Given the description of an element on the screen output the (x, y) to click on. 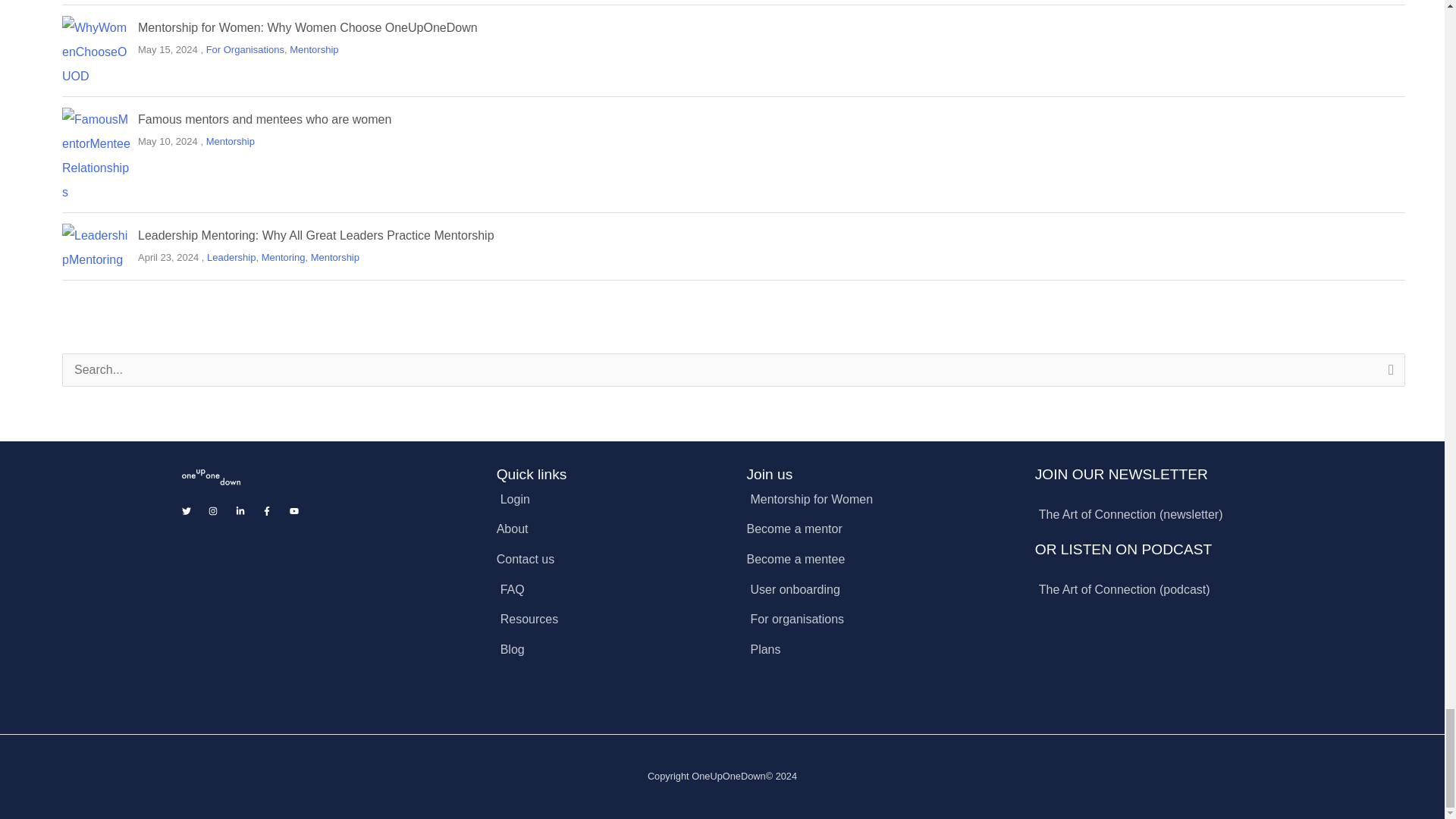
Famous mentors and mentees who are women (264, 119)
Mentorship for Women: Why Women Choose OneUpOneDown (307, 27)
